Given the description of an element on the screen output the (x, y) to click on. 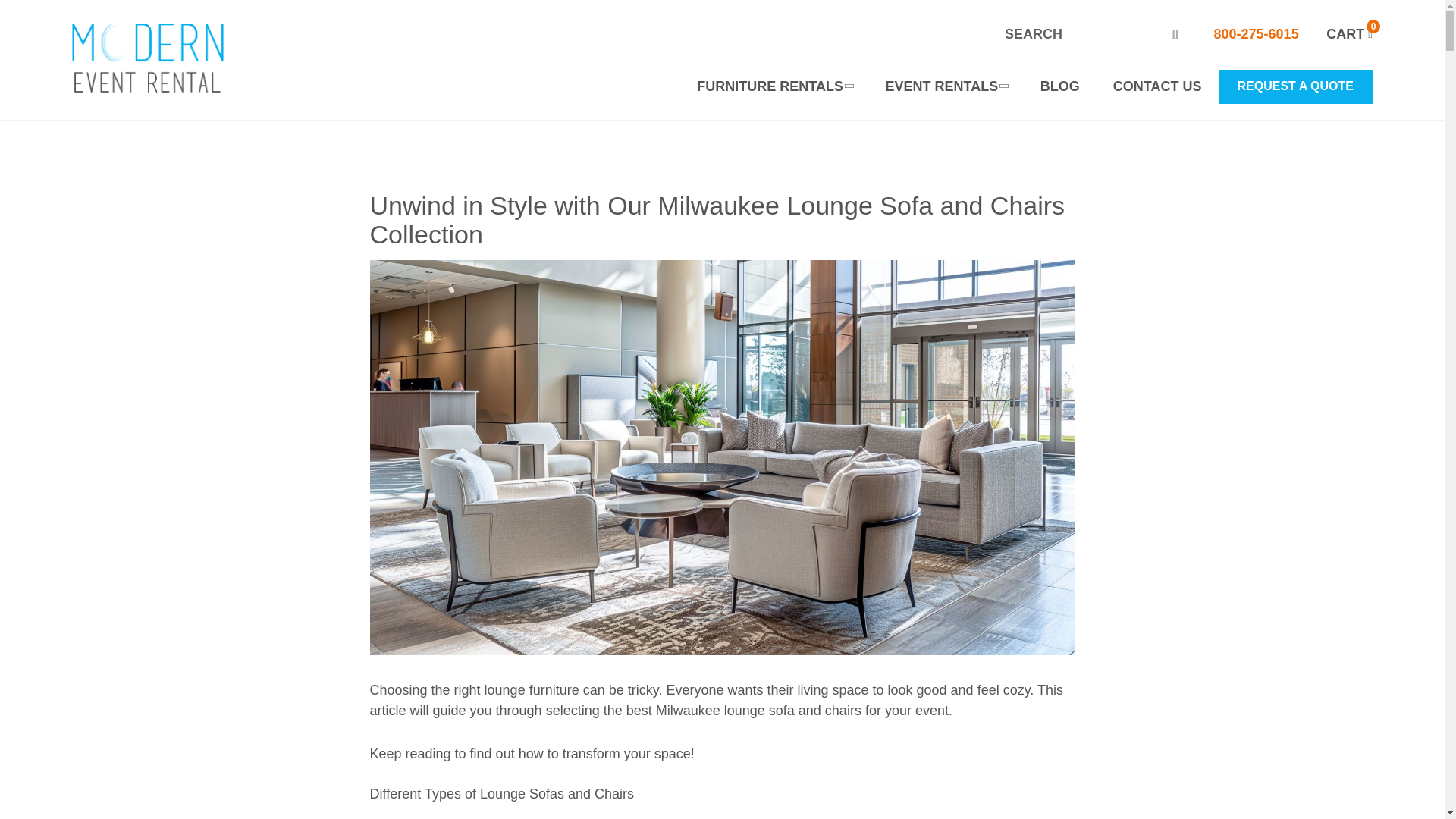
800-275-6015 (1256, 33)
FURNITURE RENTALS (773, 86)
Modern Event Rental (147, 57)
EVENT RENTALS (946, 86)
